Given the description of an element on the screen output the (x, y) to click on. 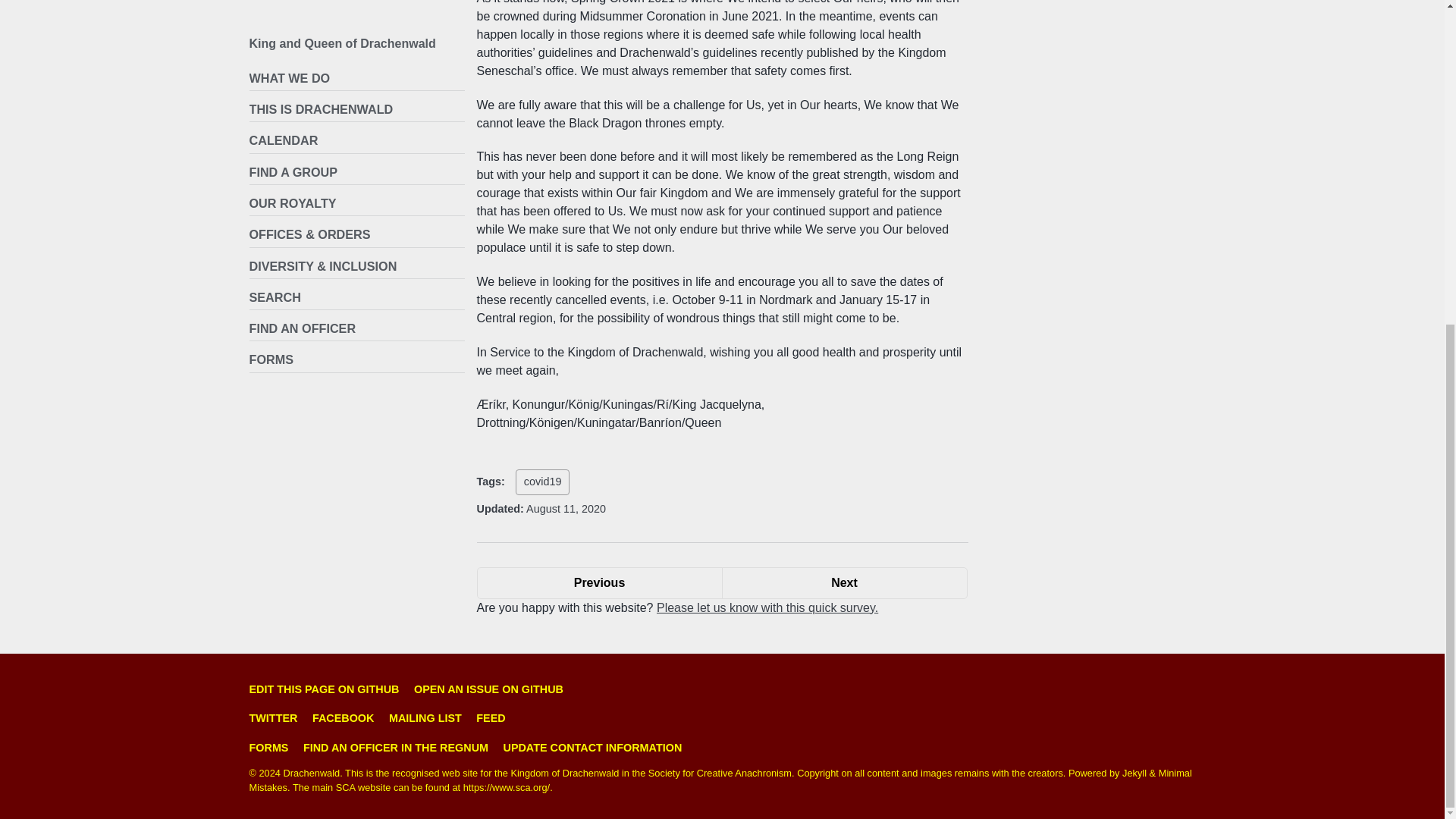
Previous (599, 582)
FACEBOOK (347, 717)
MAILING LIST (428, 717)
Next (599, 582)
FORMS (845, 582)
FORMS (271, 747)
Jekyll (845, 582)
EDIT THIS PAGE ON GITHUB (356, 3)
